Given the description of an element on the screen output the (x, y) to click on. 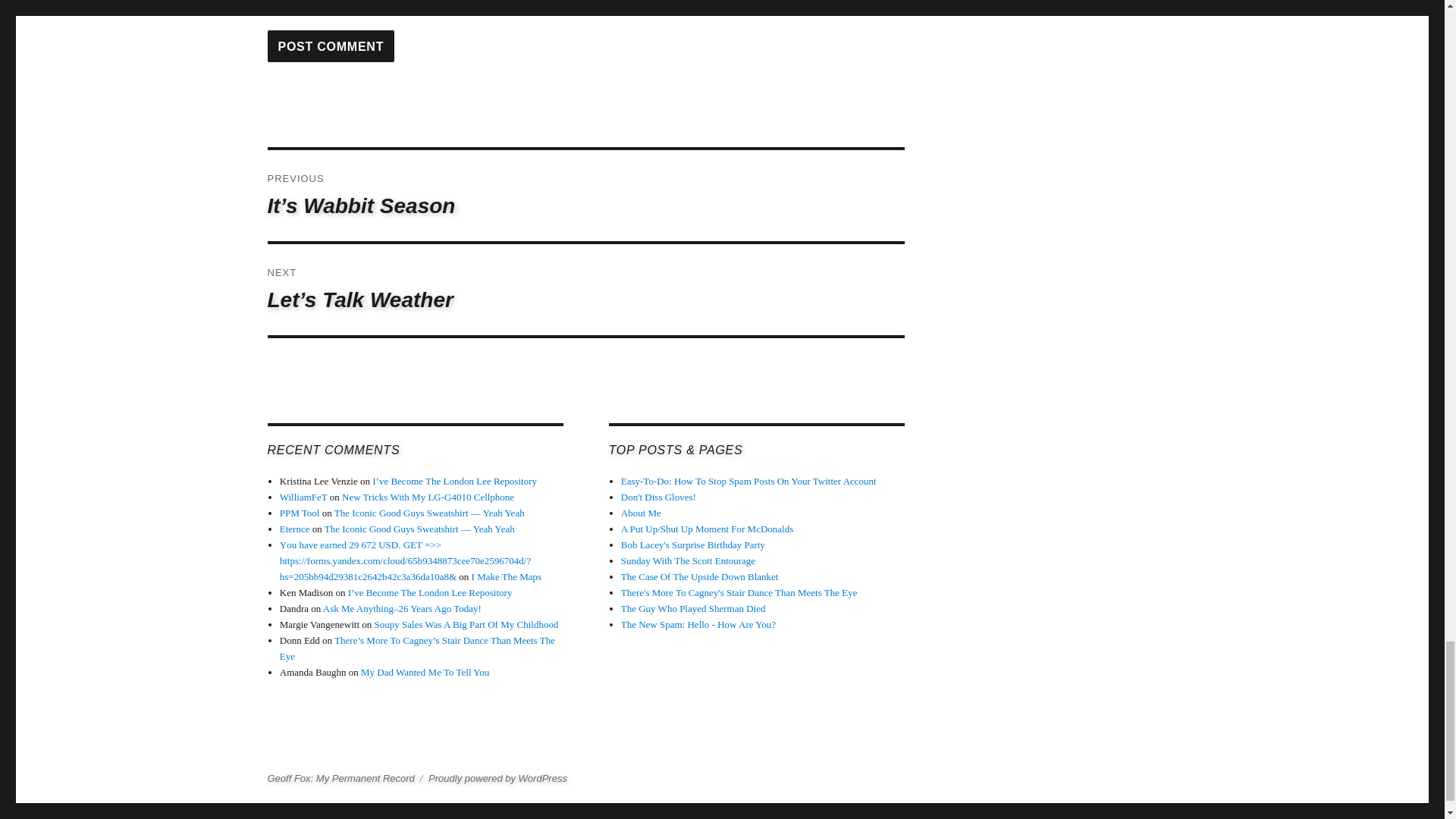
WilliamFeT (303, 496)
I Make The Maps (506, 576)
PPM Tool (299, 512)
Eternce (294, 528)
Post Comment (330, 46)
New Tricks With My LG-G4010 Cellphone (427, 496)
Post Comment (330, 46)
subscribe (271, 6)
